Given the description of an element on the screen output the (x, y) to click on. 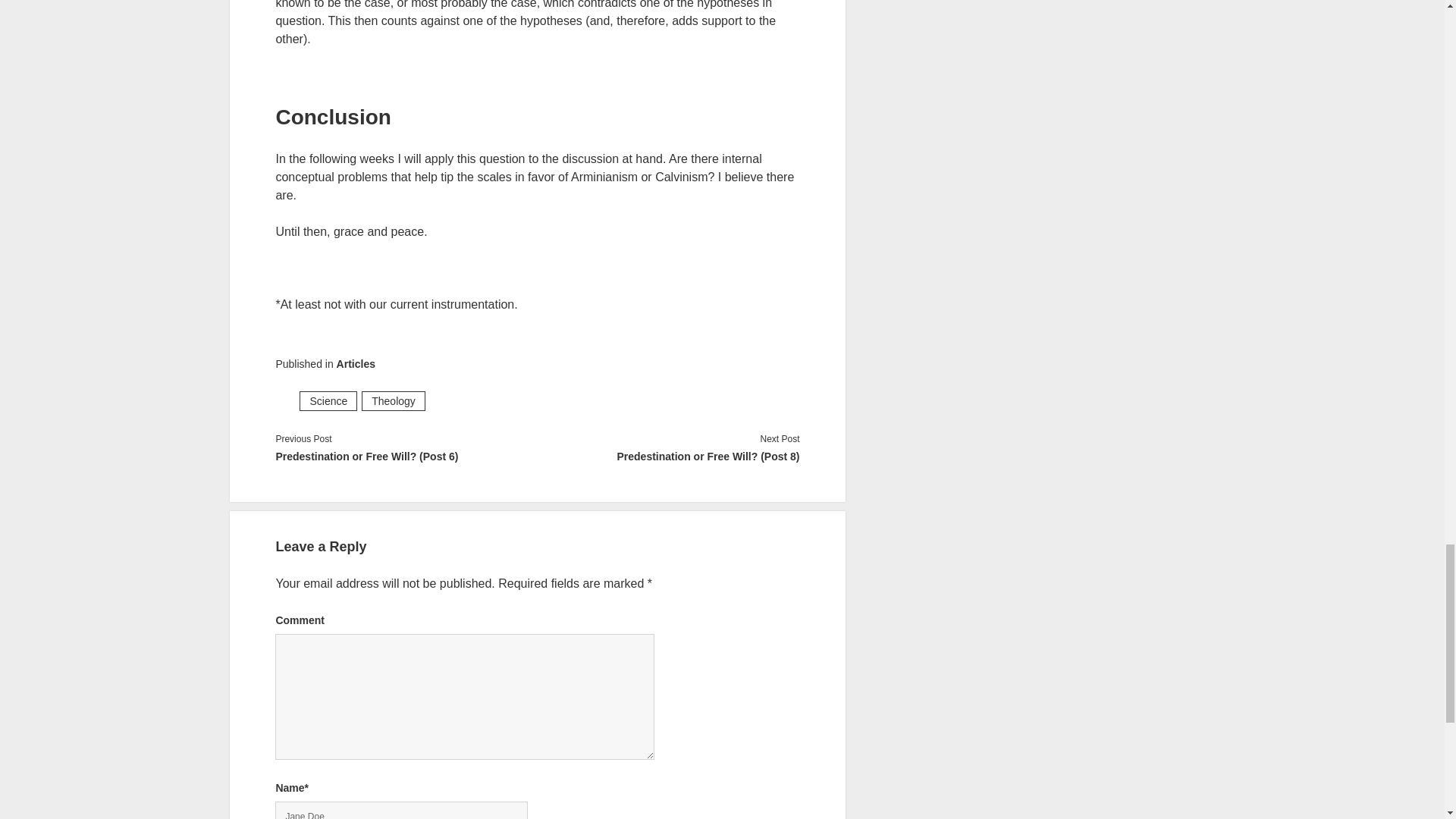
View all posts tagged Theology (393, 401)
View all posts in Articles (355, 363)
Articles (355, 363)
Science (327, 401)
View all posts tagged Science (327, 401)
Theology (393, 401)
